Given the description of an element on the screen output the (x, y) to click on. 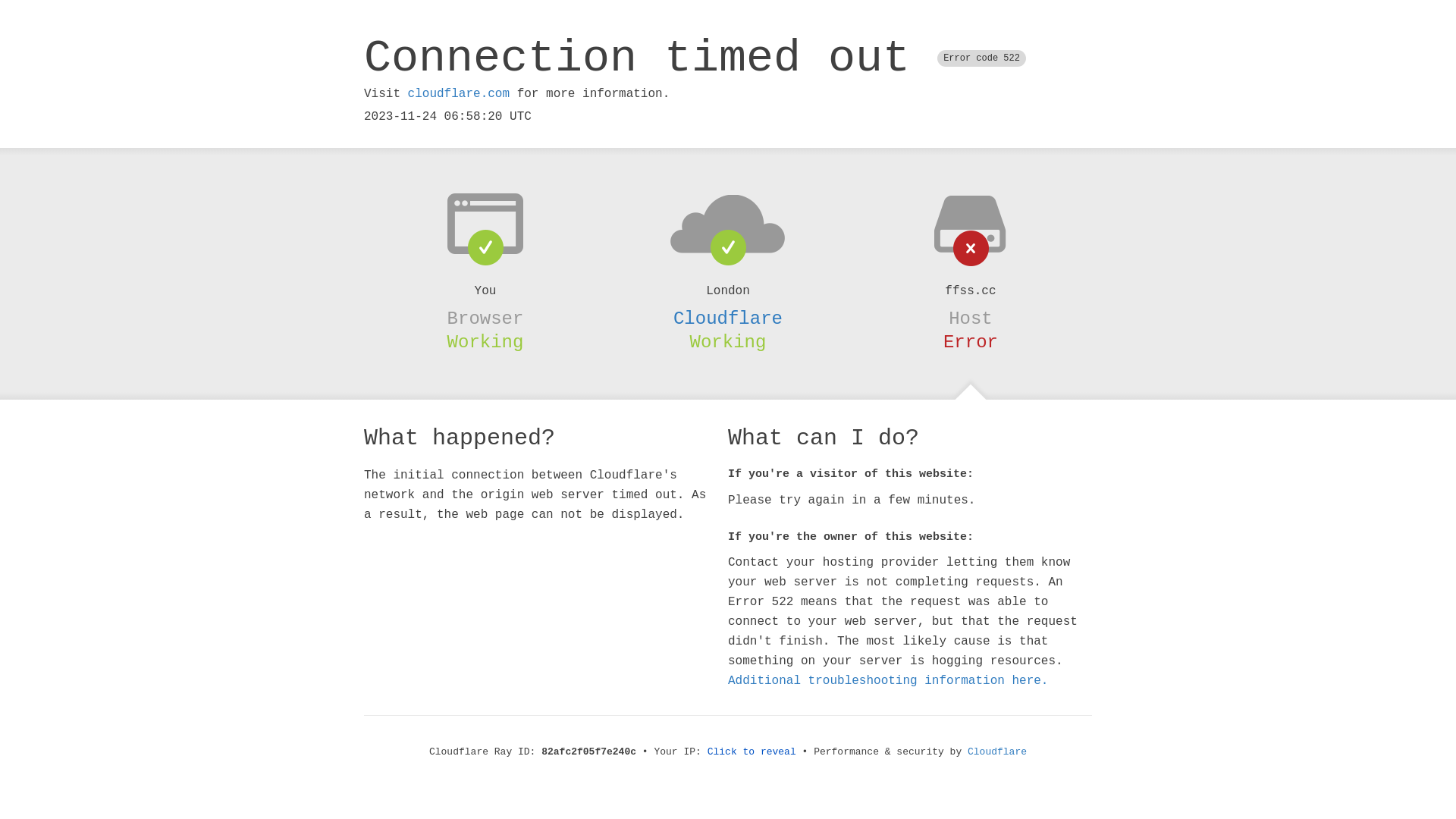
Cloudflare Element type: text (996, 751)
cloudflare.com Element type: text (458, 93)
Cloudflare Element type: text (727, 318)
Click to reveal Element type: text (751, 751)
Additional troubleshooting information here. Element type: text (888, 680)
